Given the description of an element on the screen output the (x, y) to click on. 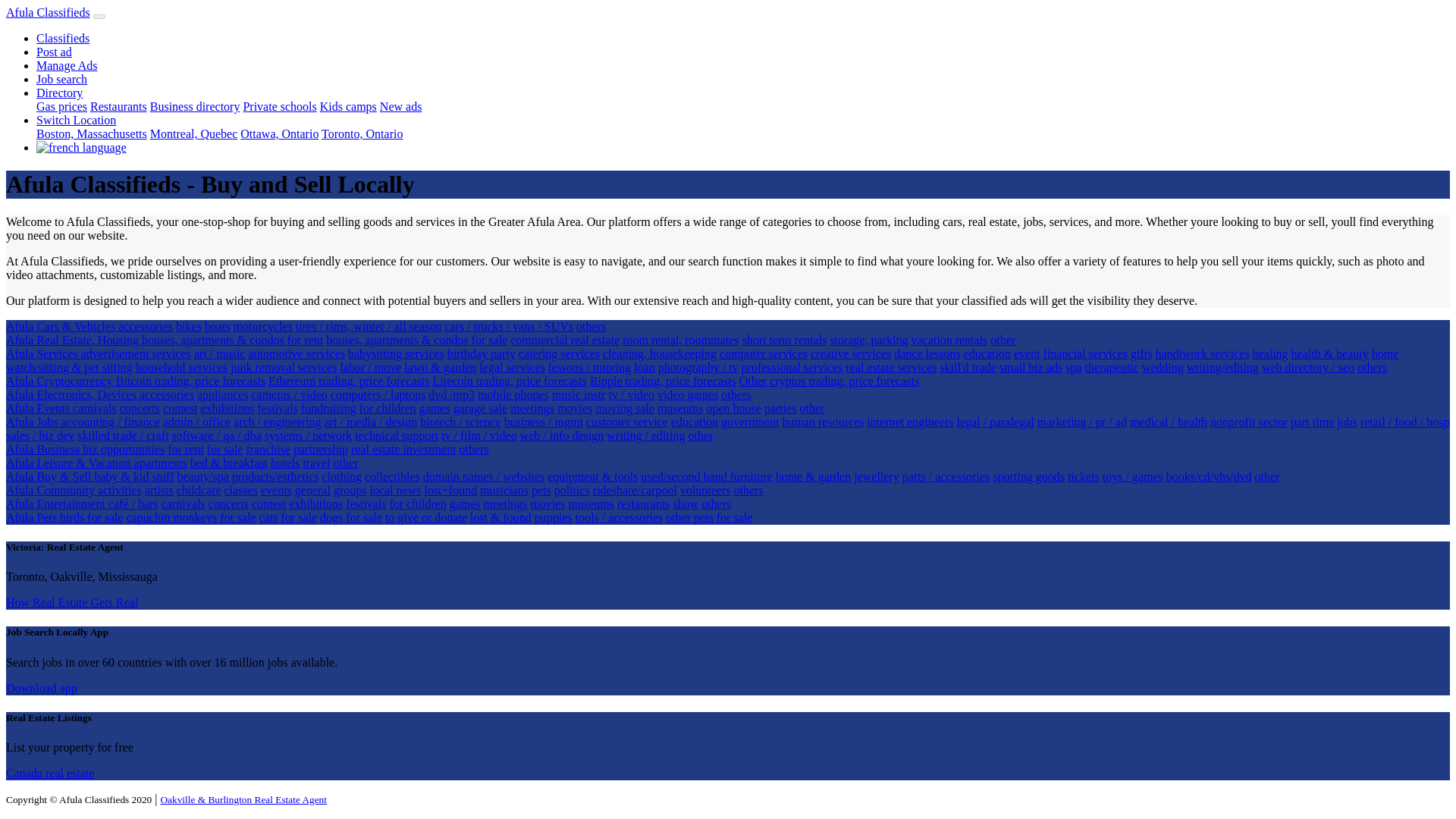
New ads (401, 106)
motorcycles (262, 326)
boats (217, 326)
others (590, 326)
room rental, roommates (680, 339)
vacation rentals (949, 339)
Afula Real Estate, Housing (73, 339)
Montreal, Quebec (193, 133)
Job search (61, 78)
short term rentals (784, 339)
storage, parking (868, 339)
Classifieds (62, 38)
Restaurants (118, 106)
Directory (59, 92)
Afula Classifieds (47, 11)
